Given the description of an element on the screen output the (x, y) to click on. 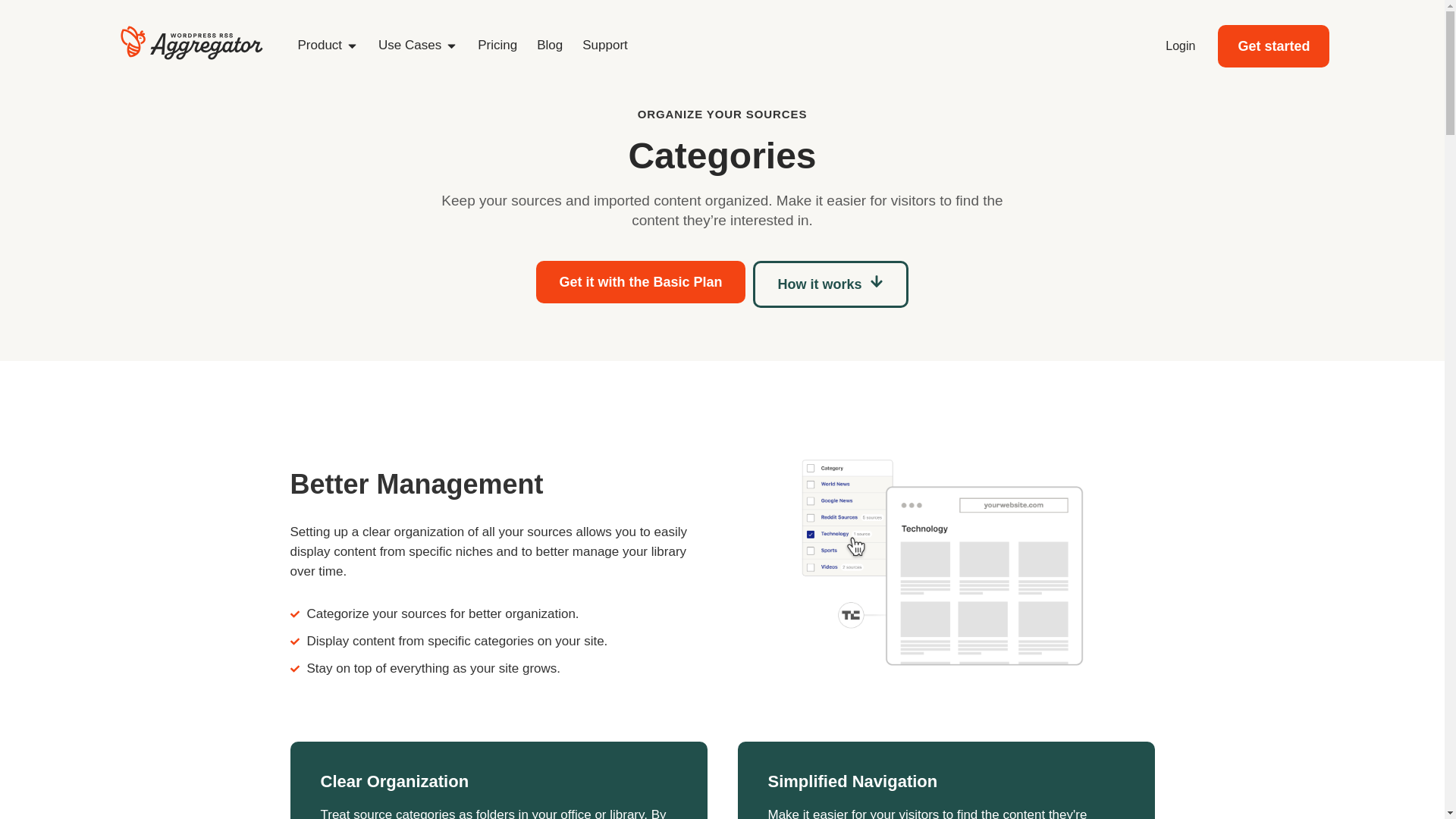
How it works (830, 284)
Get started (1272, 46)
Login (1180, 45)
Pricing (496, 45)
Support (604, 45)
Get it with the Basic Plan (639, 282)
Blog (549, 45)
